Given the description of an element on the screen output the (x, y) to click on. 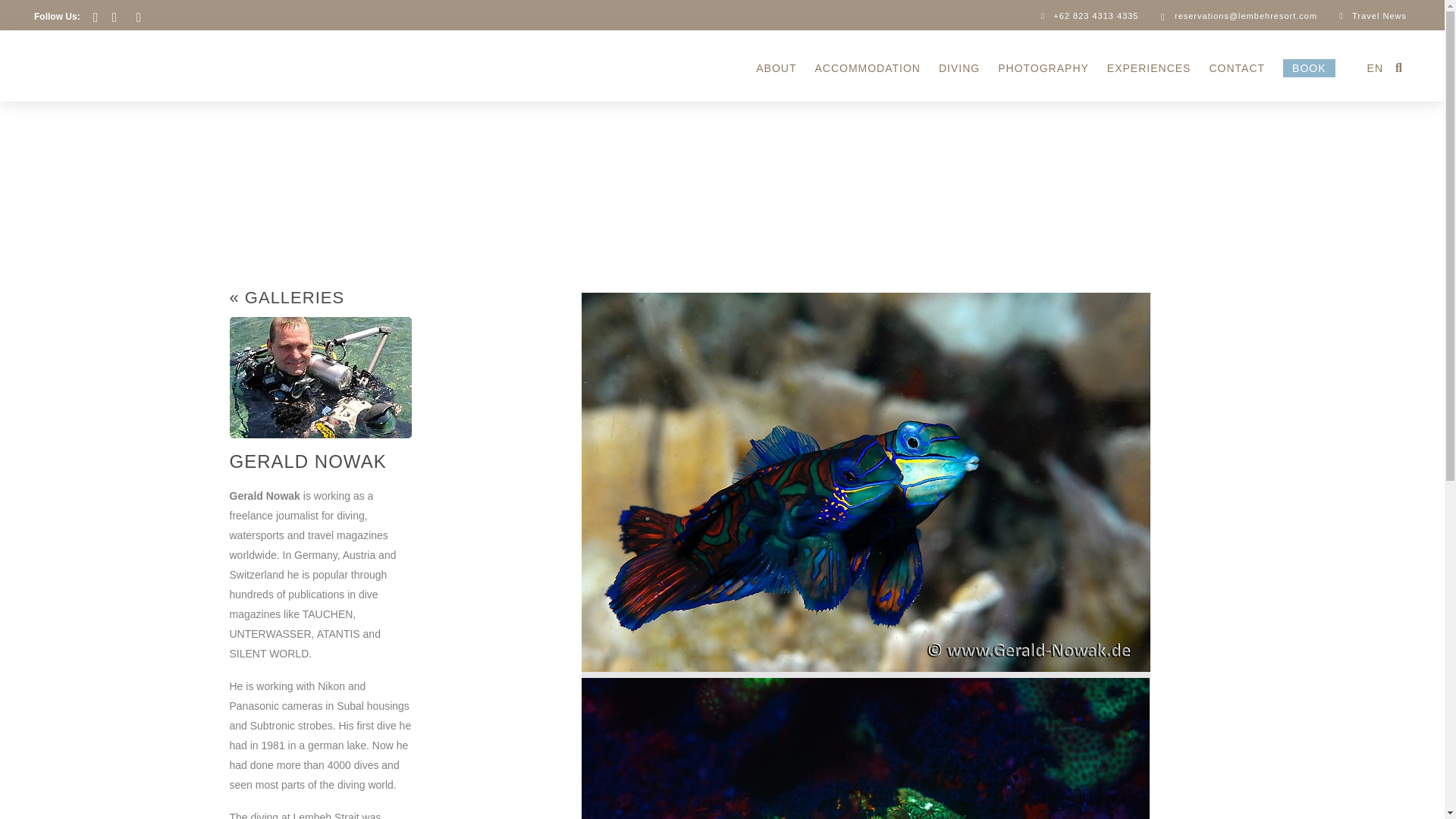
EXPERIENCES (1148, 67)
DIVING (959, 67)
Favia sp. Lembeh Strait Indonesia 2013 (864, 748)
ACCOMMODATION (867, 67)
PHOTOGRAPHY (1042, 67)
Travel News (1370, 15)
ABOUT (775, 67)
EN (1367, 67)
